Given the description of an element on the screen output the (x, y) to click on. 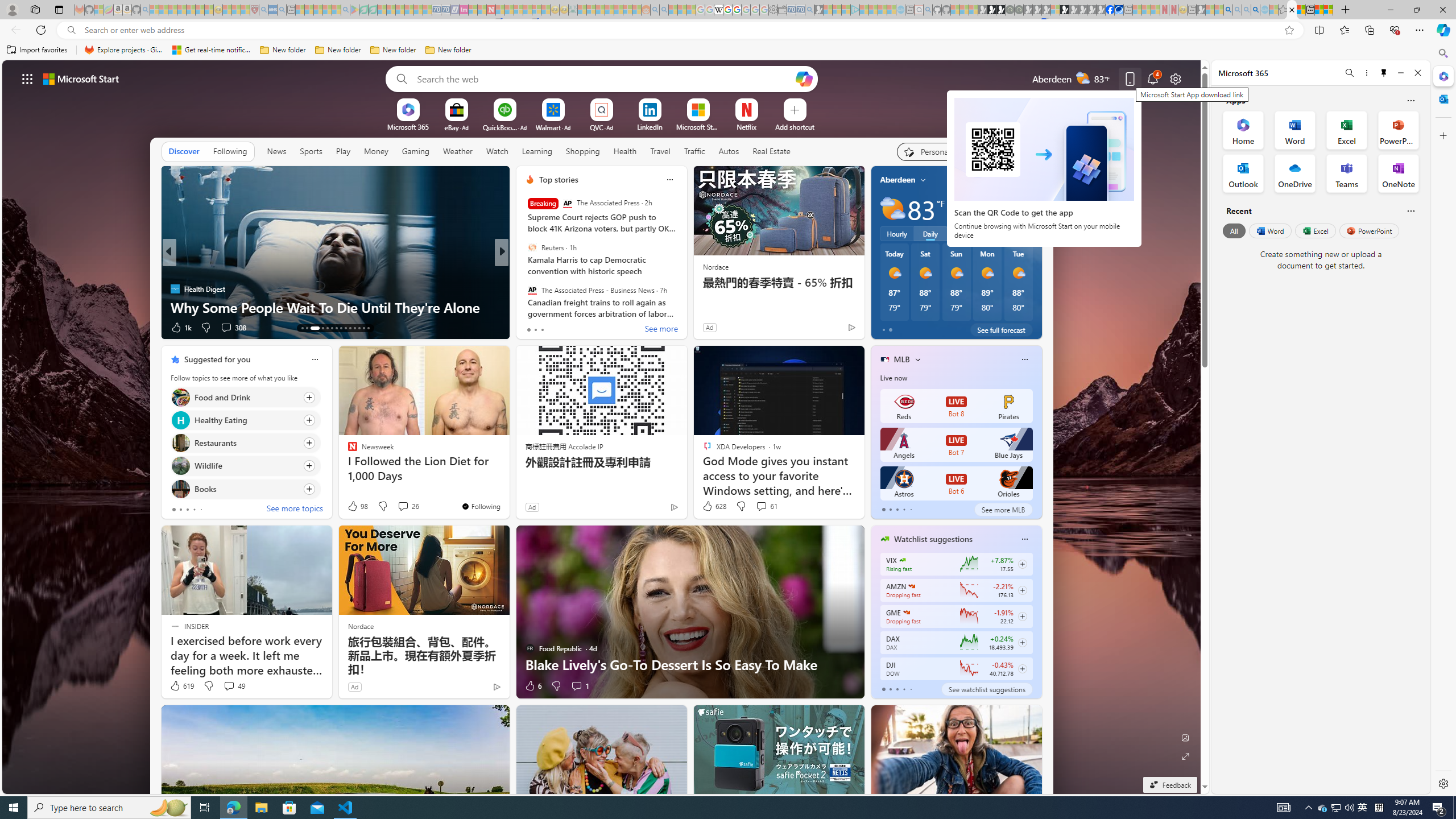
View comments 61 Comment (761, 505)
App launcher (27, 78)
